Given the description of an element on the screen output the (x, y) to click on. 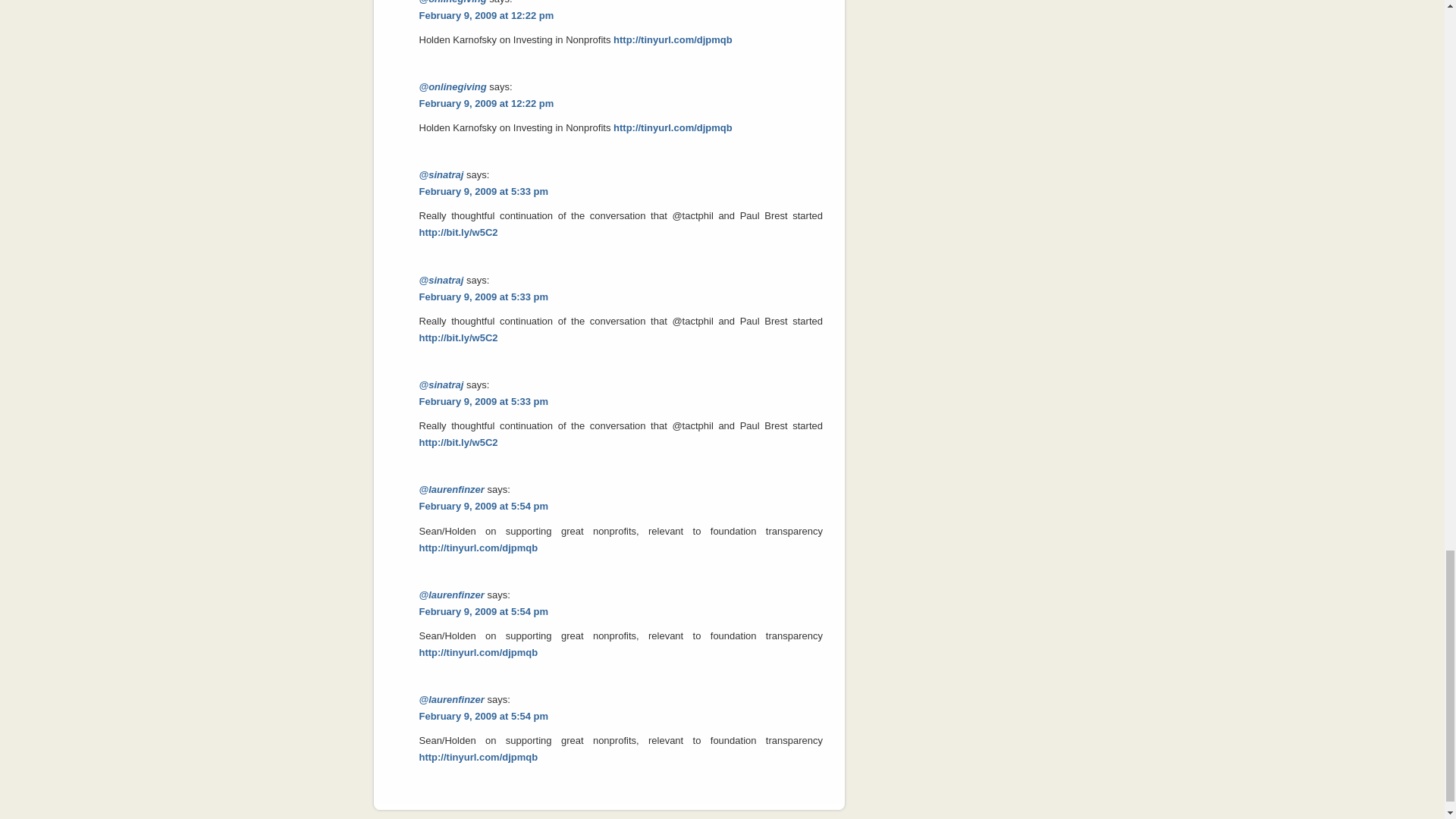
February 9, 2009 at 5:33 pm (483, 191)
February 9, 2009 at 12:22 pm (486, 102)
February 9, 2009 at 12:22 pm (486, 15)
February 9, 2009 at 5:33 pm (483, 296)
